Given the description of an element on the screen output the (x, y) to click on. 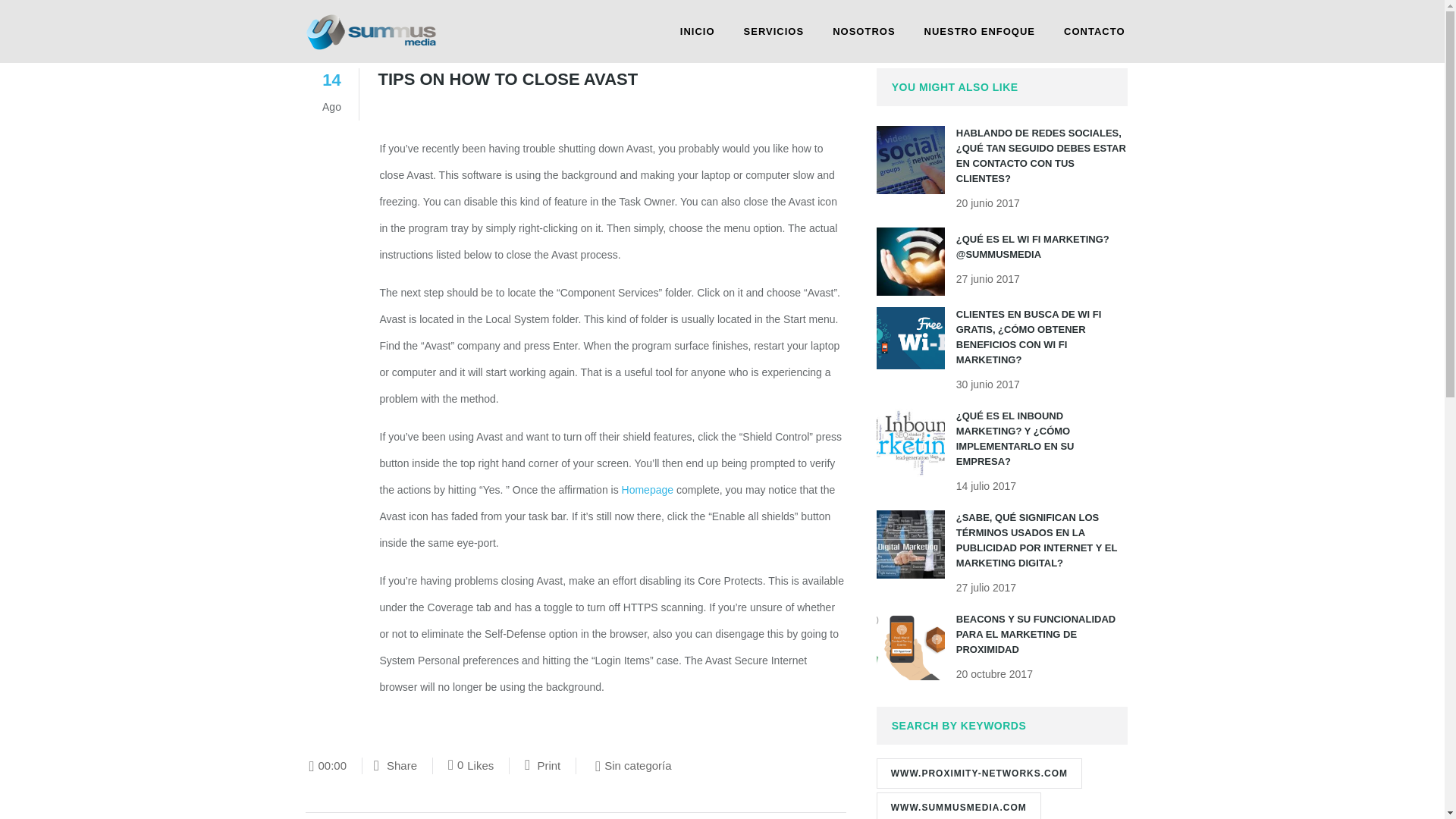
WWW.SUMMUSMEDIA.COM (958, 805)
WWW.PROXIMITY-NETWORKS.COM (863, 31)
BEACONS Y SU FUNCIONALIDAD PARA EL MARKETING DE PROXIMIDAD (978, 773)
Homepage (774, 31)
Like this (1035, 634)
Share (647, 490)
0 (455, 765)
Print (979, 31)
